Given the description of an element on the screen output the (x, y) to click on. 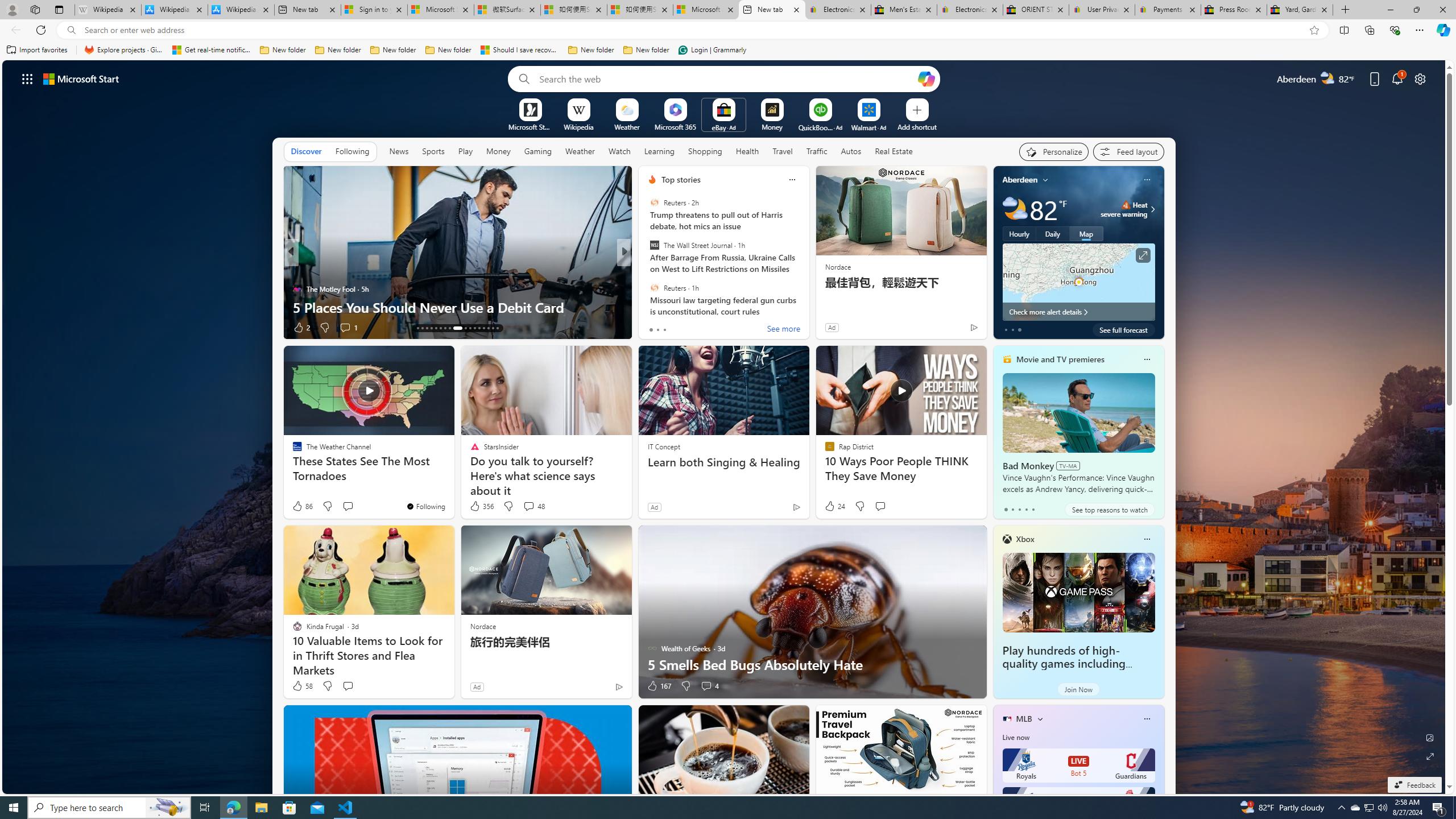
Class: icon-img (1146, 718)
tab-2 (1019, 509)
86 Like (301, 505)
This Is How Much Gas You Should Be Keeping in Your Tank (807, 298)
To get missing image descriptions, open the context menu. (529, 109)
MLB (1024, 718)
You're following The Weather Channel (425, 505)
See full forecast (1123, 329)
Edit Background (1430, 737)
Microsoft account | Account Checkup (706, 9)
Dislike (685, 685)
